Given the description of an element on the screen output the (x, y) to click on. 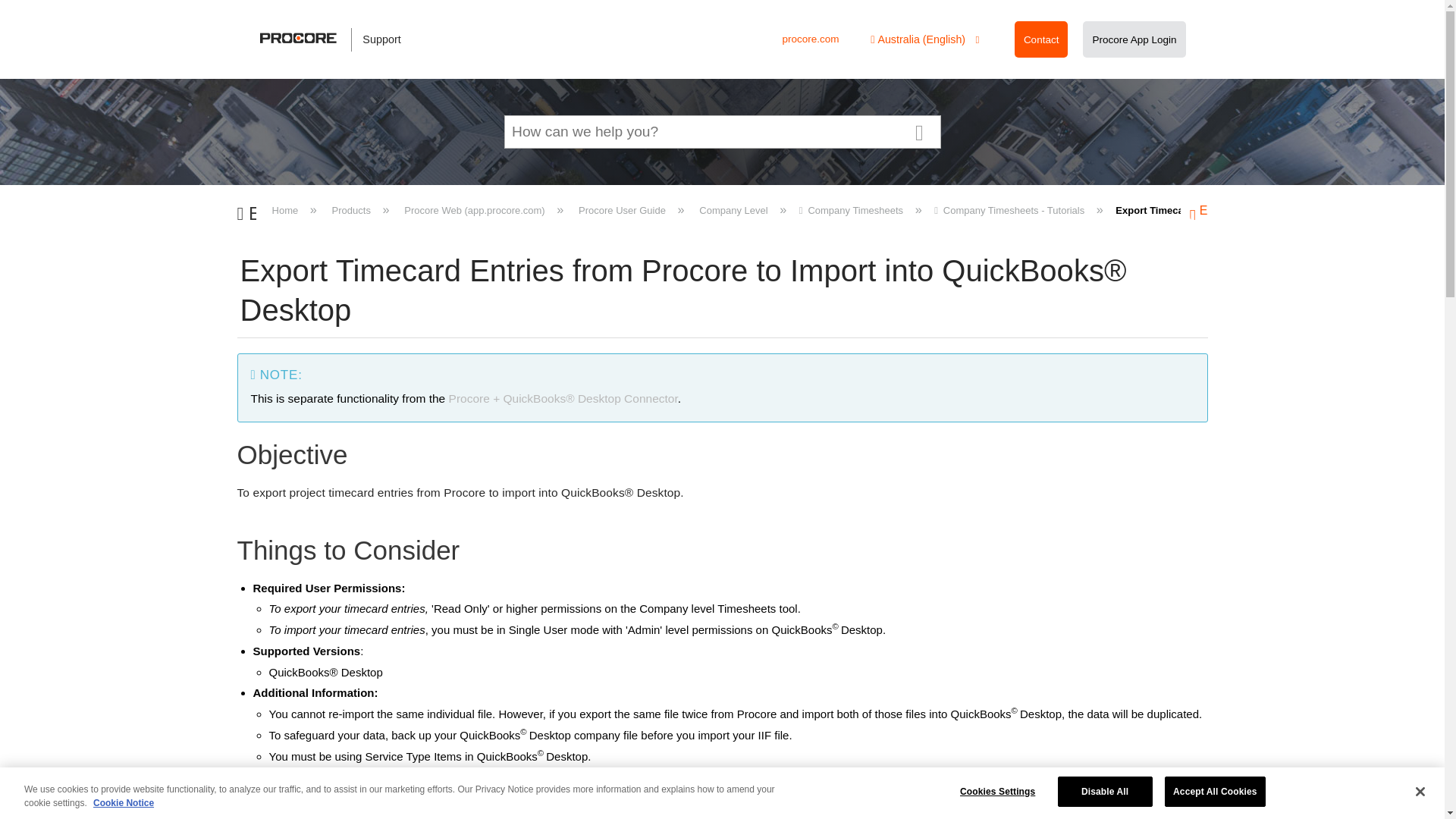
procore.com (809, 39)
Products (350, 210)
Procore User Guide (622, 210)
Live Chat (1229, 801)
Home (285, 210)
Support (338, 38)
Contact (1041, 39)
Procore App Login (1134, 39)
Company Timesheets (852, 210)
Company Level (733, 210)
Company Timesheets - Tutorials (1010, 210)
